Given the description of an element on the screen output the (x, y) to click on. 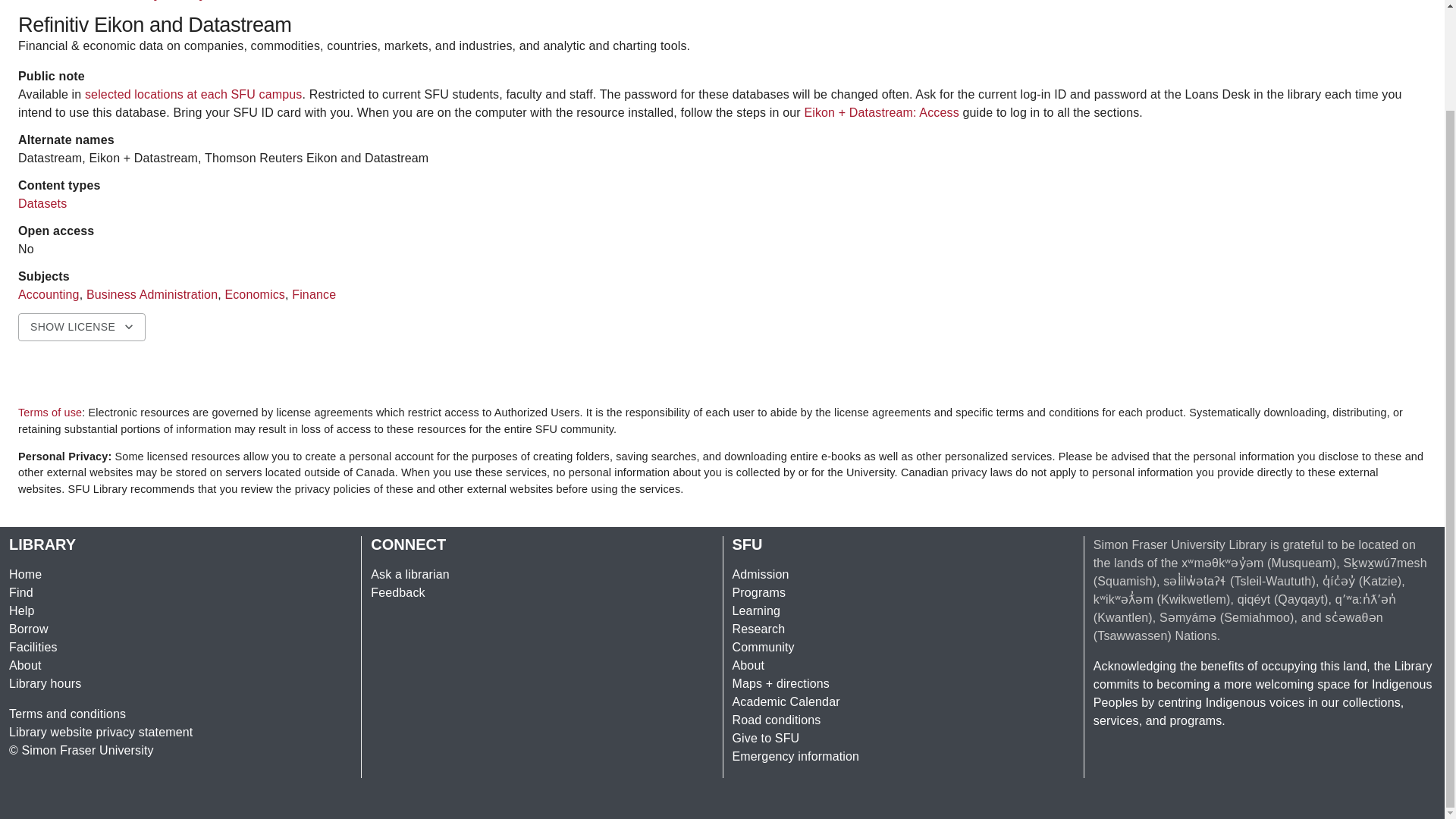
Programs (759, 592)
Academic Calendar (786, 701)
Find (20, 592)
SHOW LICENSE (81, 326)
Admission (760, 574)
Research (759, 628)
Finance (314, 294)
Terms of use (49, 412)
Facilities (33, 646)
Learning (756, 610)
